Given the description of an element on the screen output the (x, y) to click on. 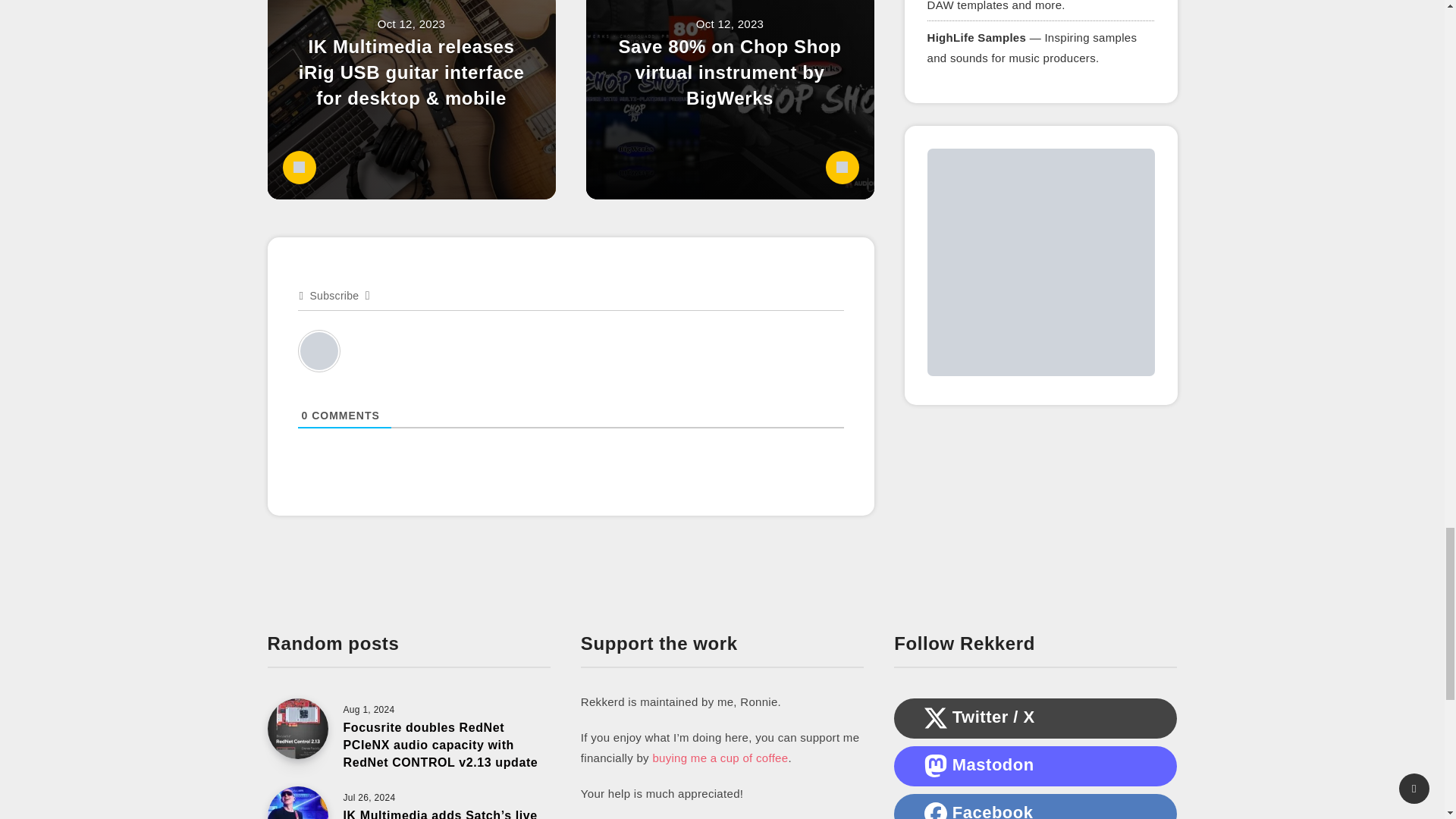
Facebook (935, 810)
X (935, 717)
Mastodon (935, 765)
